Given the description of an element on the screen output the (x, y) to click on. 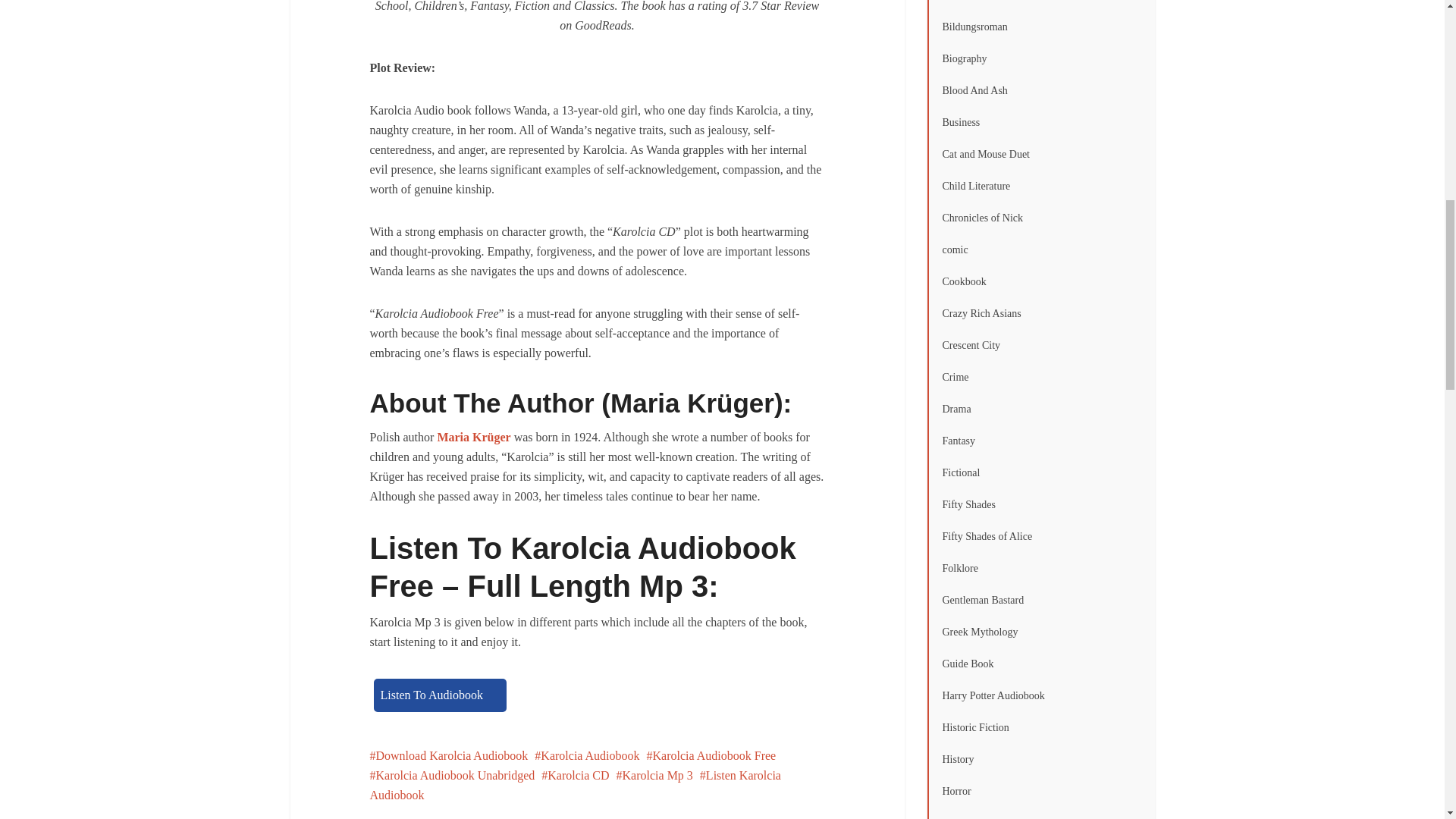
Karolcia Audiobook Free (711, 755)
Download Karolcia Audiobook (448, 755)
Listen Karolcia Audiobook (574, 785)
Karolcia CD (574, 775)
Karolcia Audiobook (586, 755)
Listen To Audiobook (438, 694)
Karolcia Mp 3 (654, 775)
Karolcia Audiobook Unabridged (452, 775)
